Given the description of an element on the screen output the (x, y) to click on. 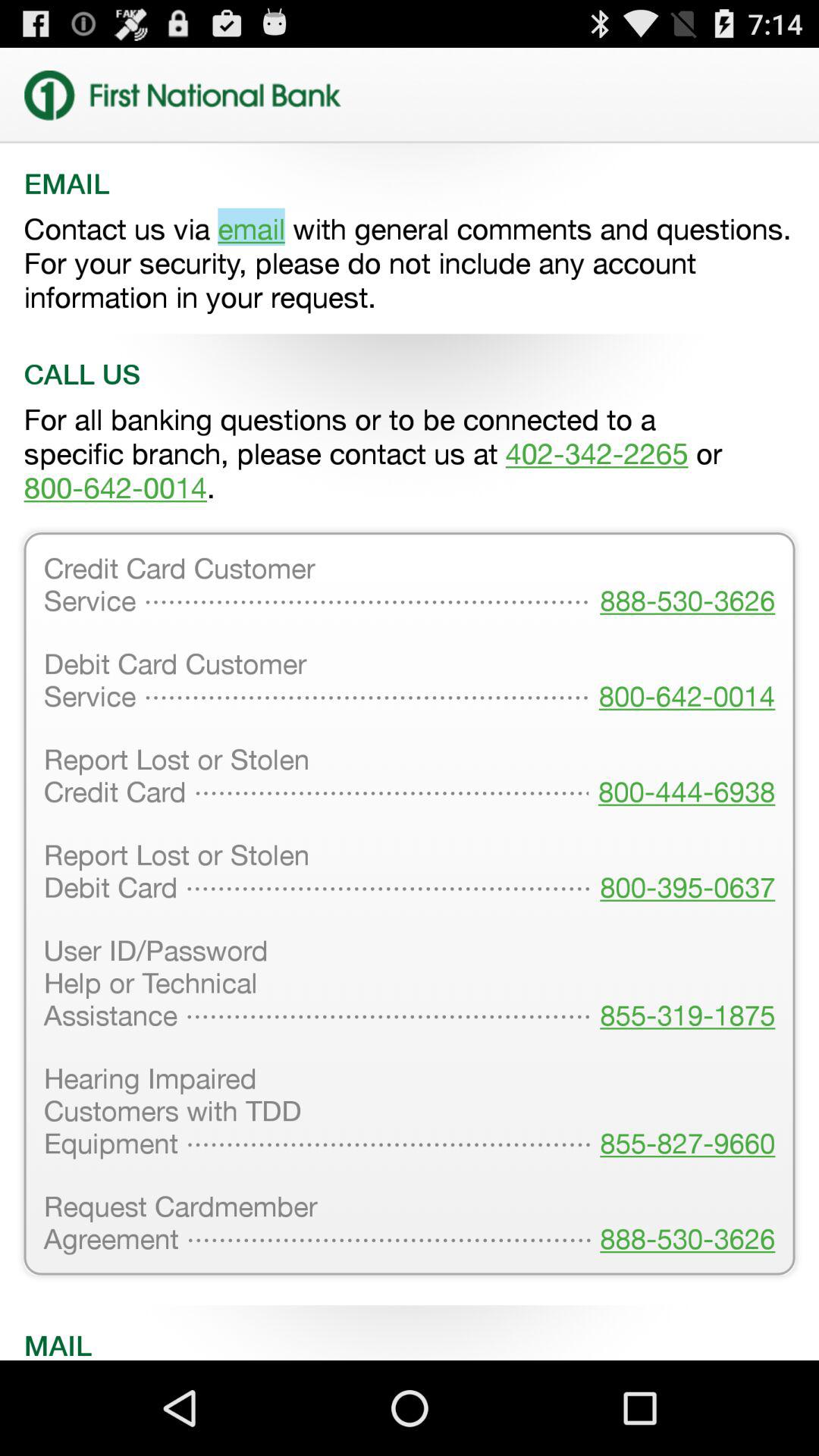
select 855-827-9660 icon (682, 1112)
